Given the description of an element on the screen output the (x, y) to click on. 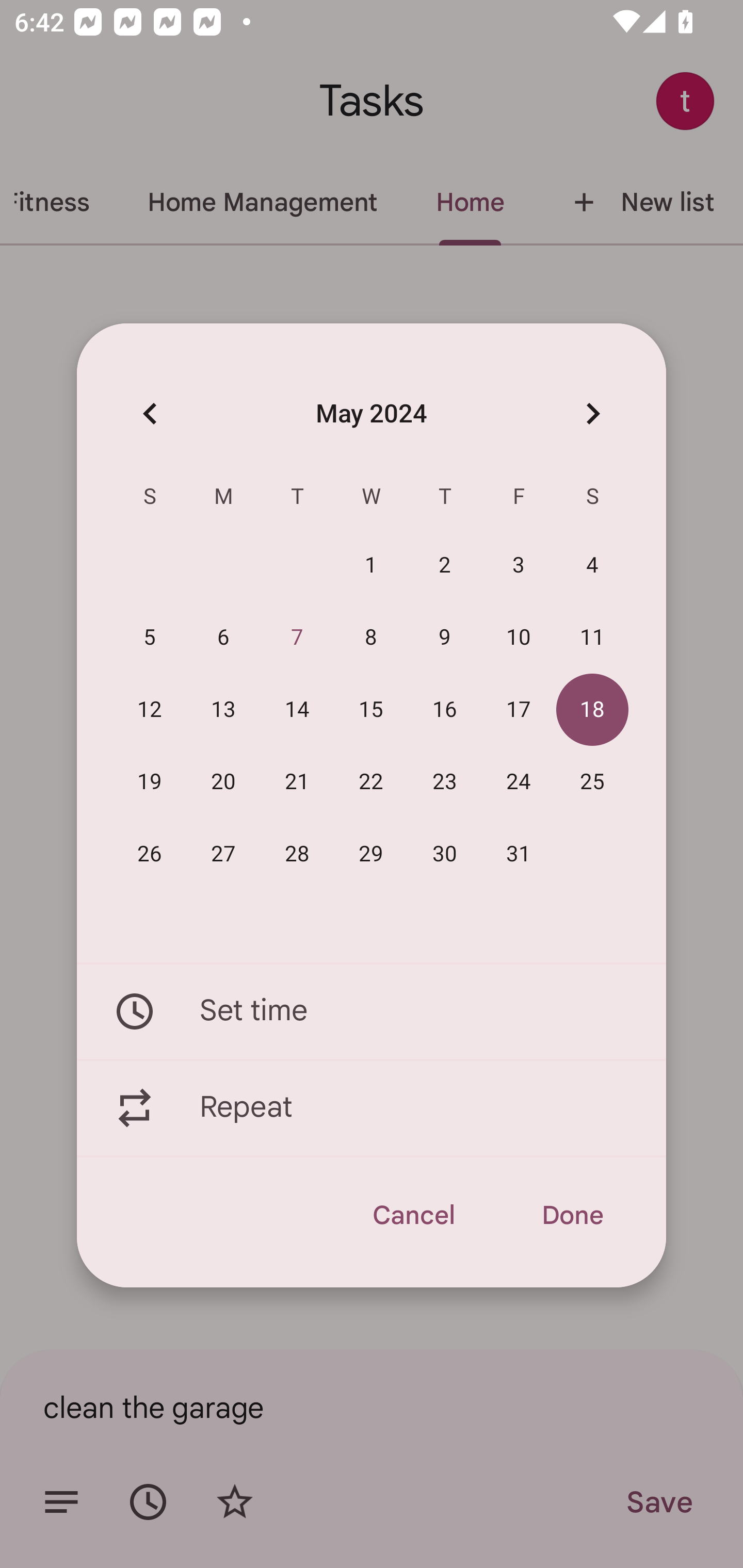
Previous month (149, 413)
Next month (592, 413)
1 01 May 2024 (370, 565)
2 02 May 2024 (444, 565)
3 03 May 2024 (518, 565)
4 04 May 2024 (592, 565)
5 05 May 2024 (149, 638)
6 06 May 2024 (223, 638)
7 07 May 2024 (297, 638)
8 08 May 2024 (370, 638)
9 09 May 2024 (444, 638)
10 10 May 2024 (518, 638)
11 11 May 2024 (592, 638)
12 12 May 2024 (149, 710)
13 13 May 2024 (223, 710)
14 14 May 2024 (297, 710)
15 15 May 2024 (370, 710)
16 16 May 2024 (444, 710)
17 17 May 2024 (518, 710)
18 18 May 2024 (592, 710)
19 19 May 2024 (149, 782)
20 20 May 2024 (223, 782)
21 21 May 2024 (297, 782)
22 22 May 2024 (370, 782)
23 23 May 2024 (444, 782)
24 24 May 2024 (518, 782)
25 25 May 2024 (592, 782)
26 26 May 2024 (149, 854)
27 27 May 2024 (223, 854)
28 28 May 2024 (297, 854)
29 29 May 2024 (370, 854)
30 30 May 2024 (444, 854)
31 31 May 2024 (518, 854)
Set time (371, 1011)
Repeat (371, 1108)
Cancel (412, 1215)
Done (571, 1215)
